Given the description of an element on the screen output the (x, y) to click on. 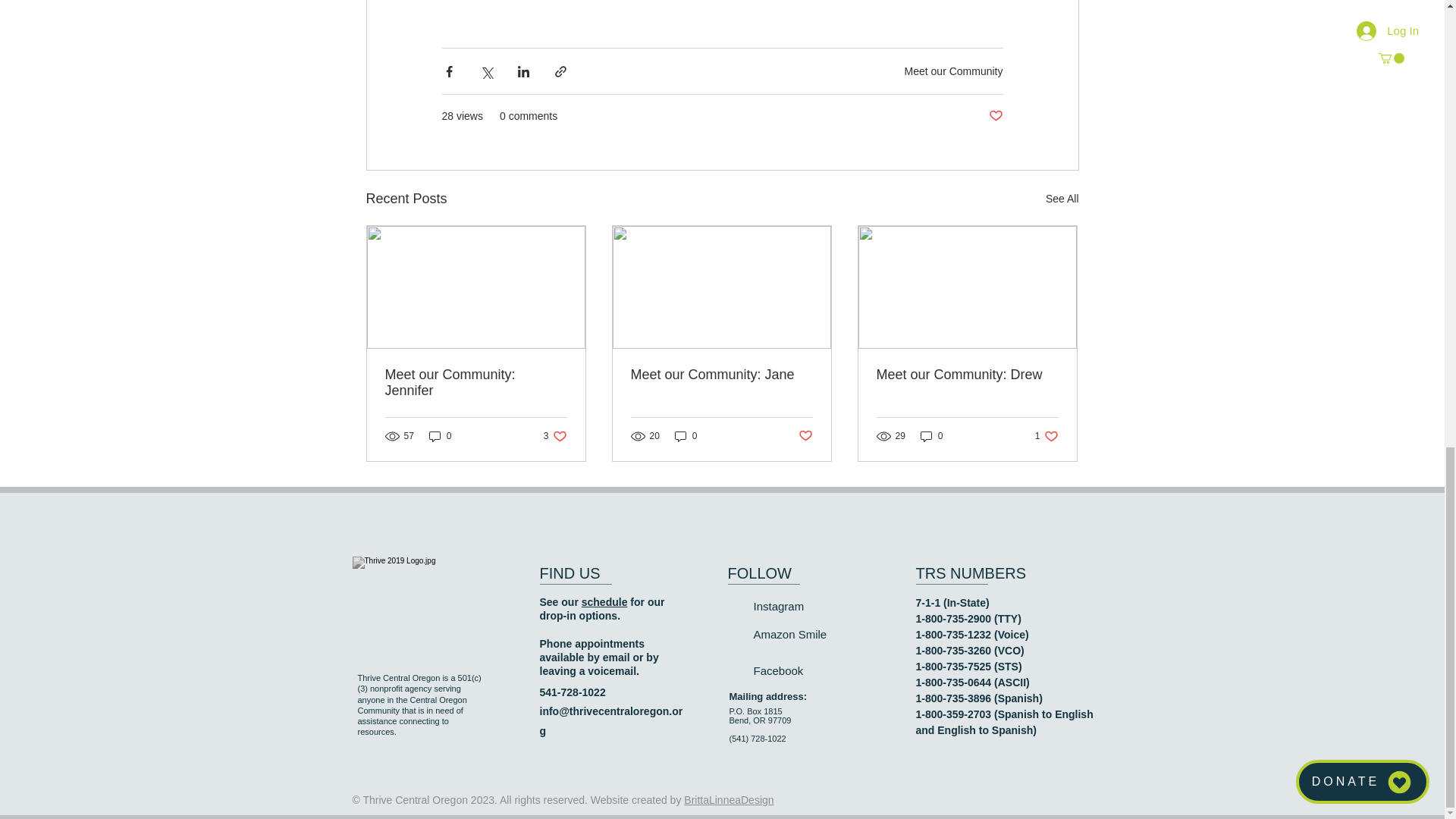
Meet our Community (953, 70)
